Given the description of an element on the screen output the (x, y) to click on. 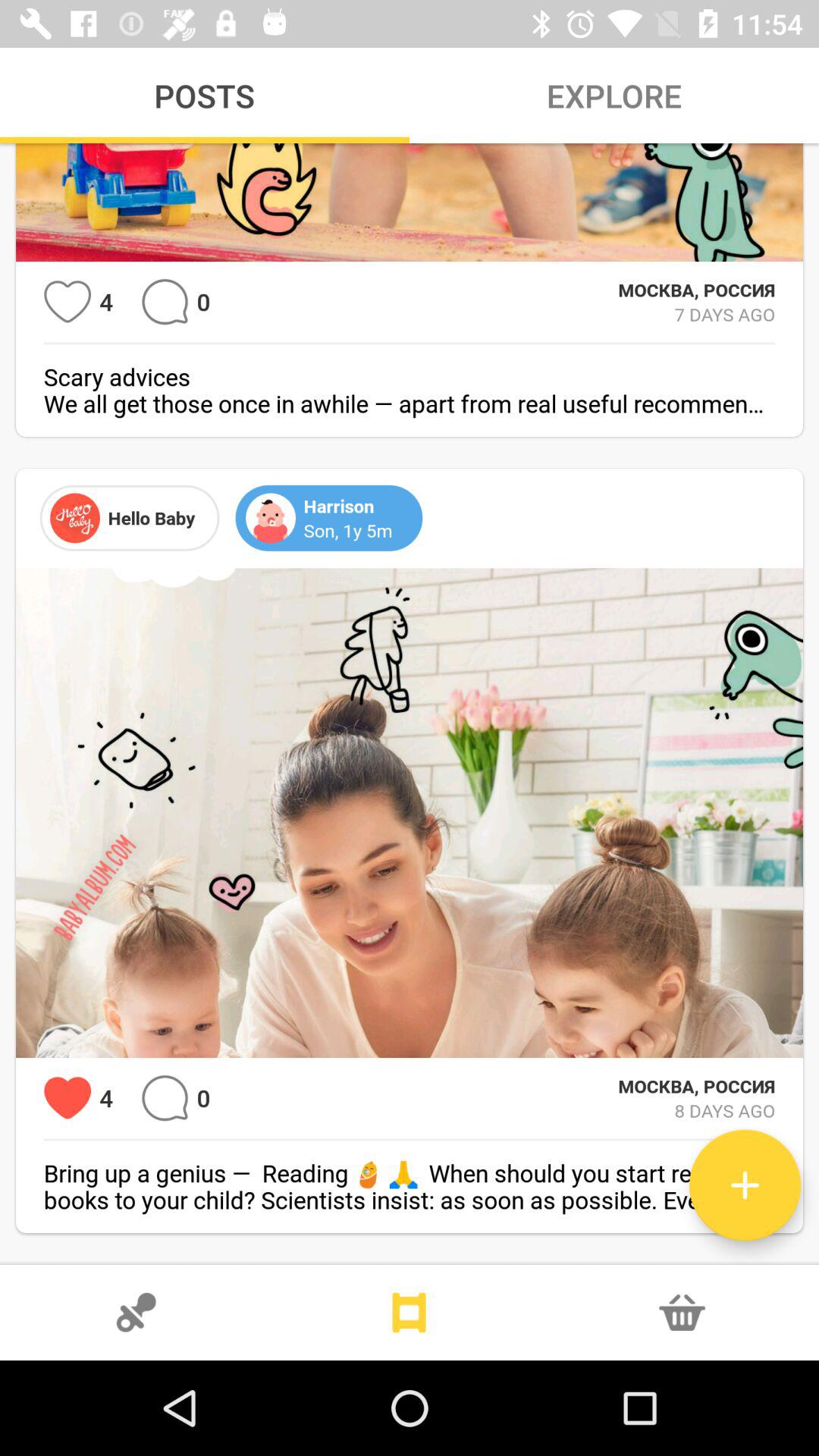
turn on item below the 8 days ago (744, 1185)
